Given the description of an element on the screen output the (x, y) to click on. 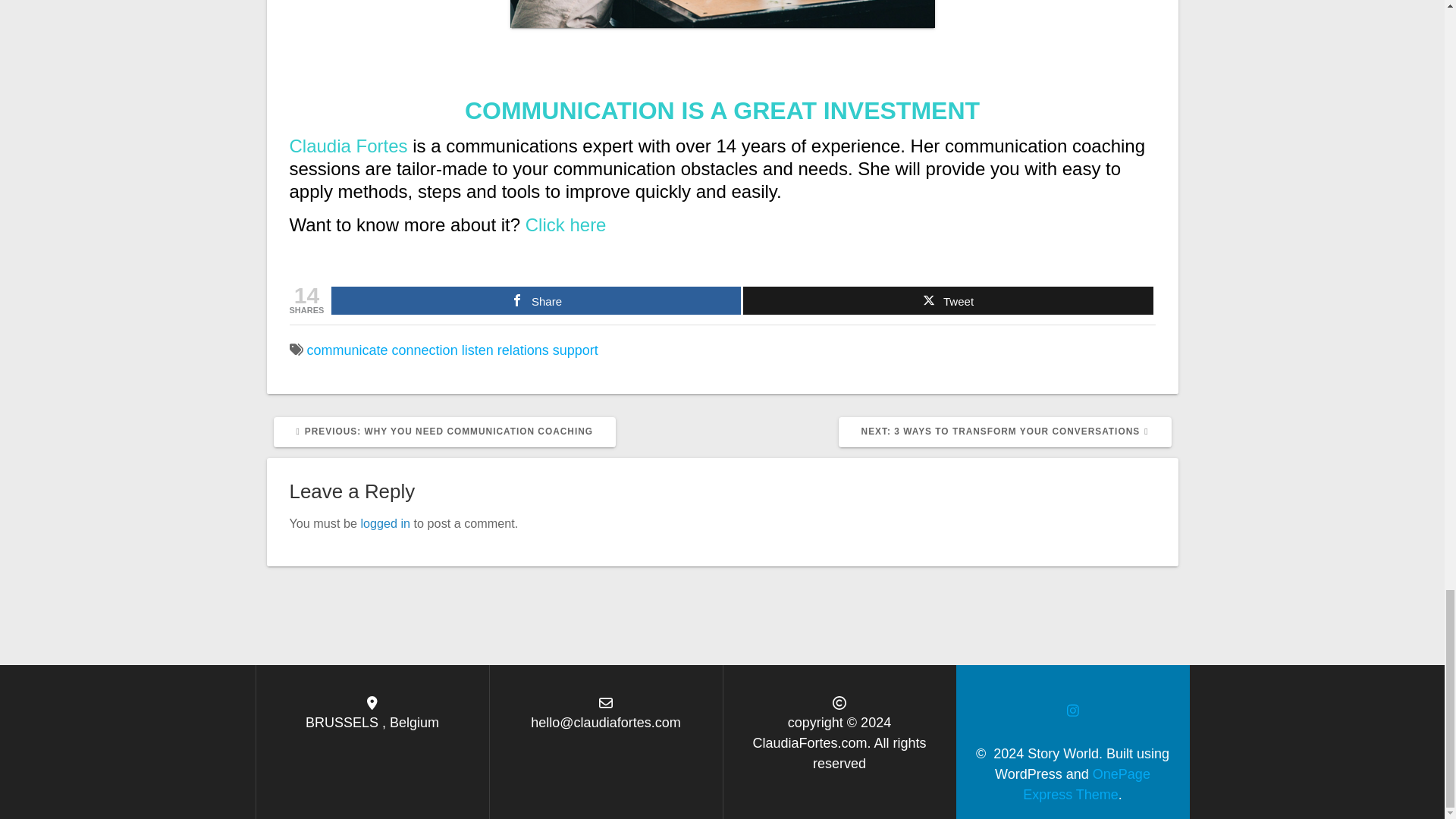
support (575, 350)
Claudia Fortes (348, 145)
Tweet (1005, 431)
OnePage Express Theme (947, 300)
listen (1086, 784)
connection (477, 350)
relations (424, 350)
logged in (522, 350)
Share (384, 522)
Click here (536, 300)
communicate (566, 224)
